Given the description of an element on the screen output the (x, y) to click on. 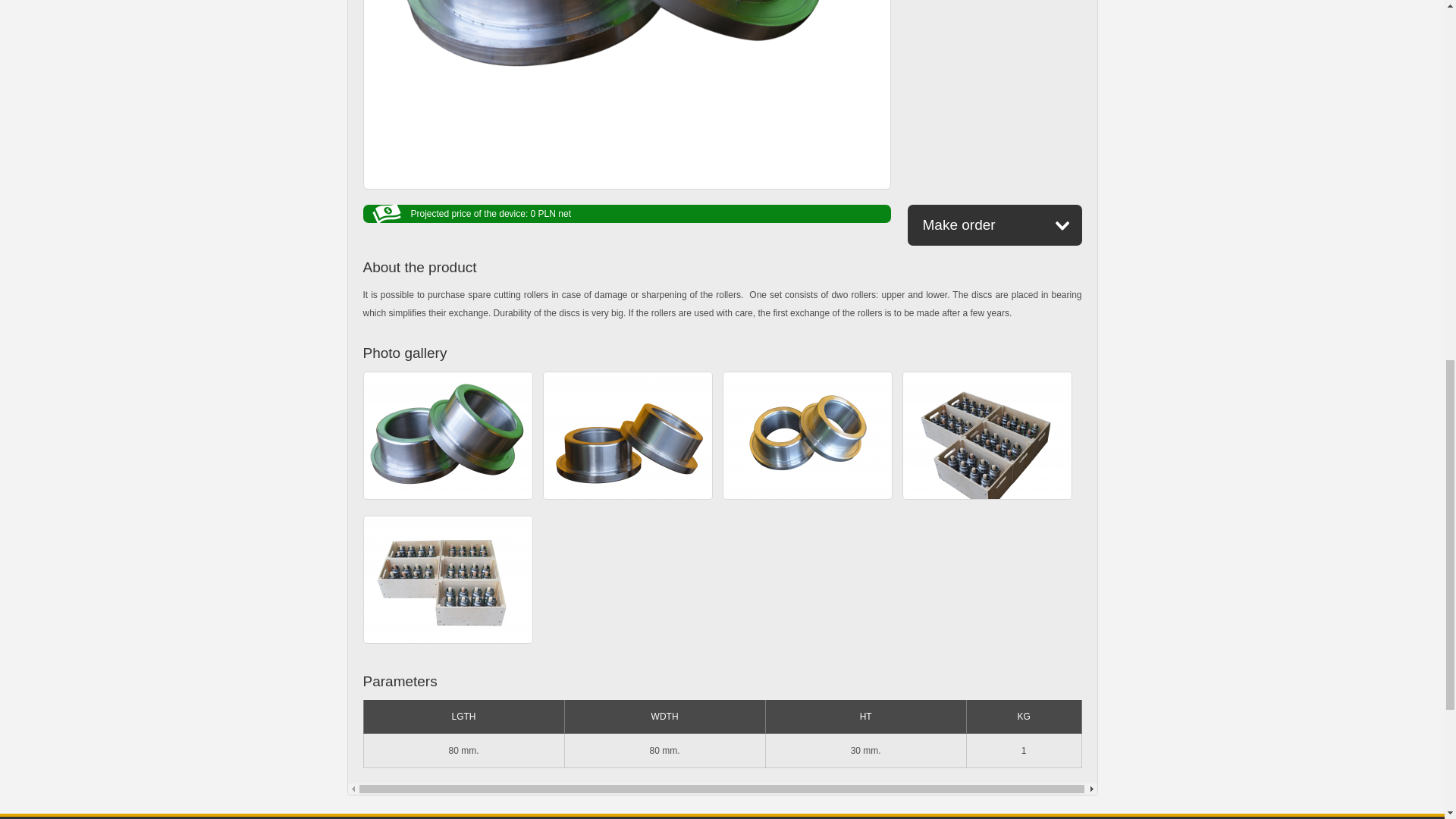
Make order (994, 224)
